Given the description of an element on the screen output the (x, y) to click on. 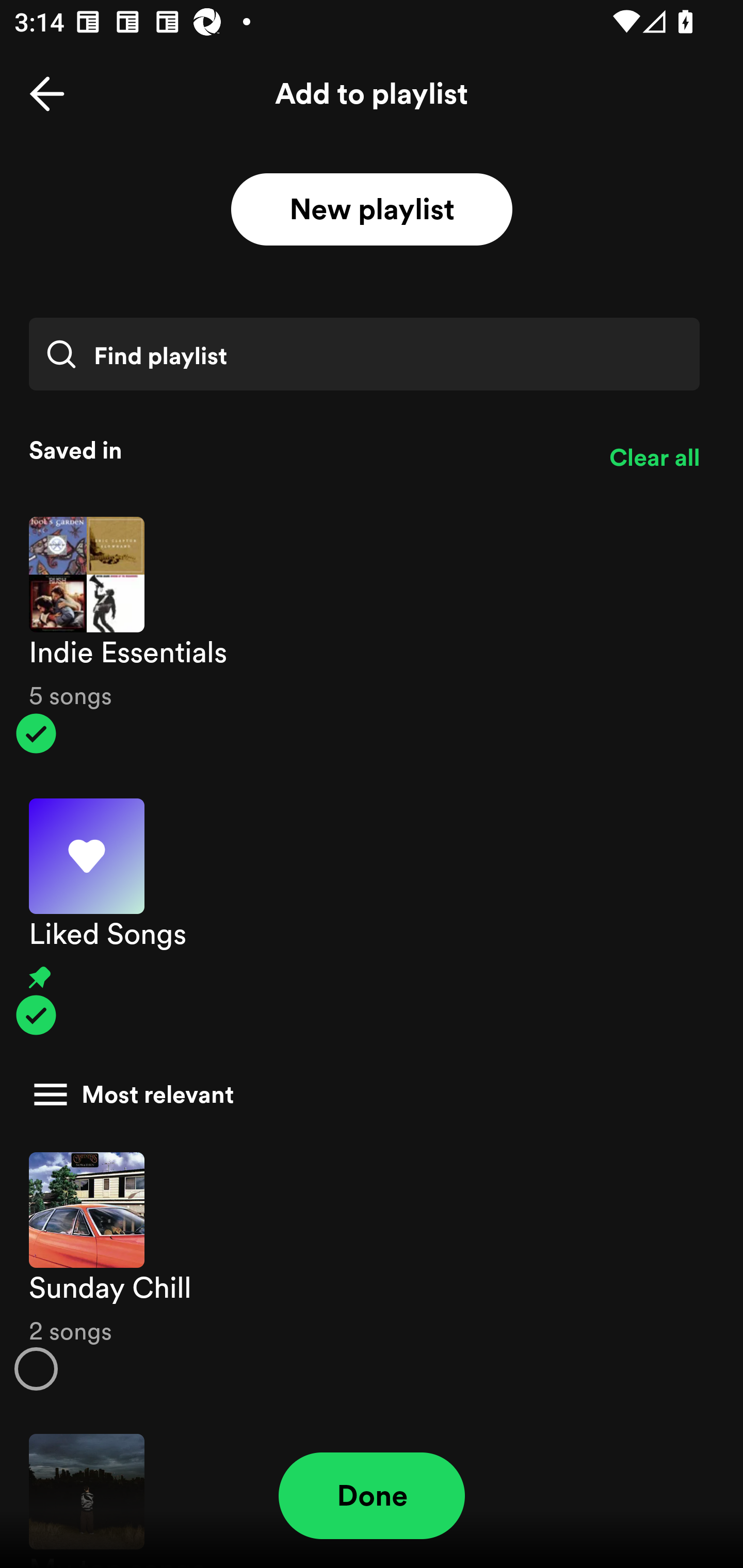
Back (46, 93)
New playlist (371, 210)
Find playlist (363, 354)
Saved in (304, 449)
Clear all (654, 457)
Indie Essentials 5 songs (371, 635)
Liked Songs Pinned (371, 917)
Most relevant (363, 1094)
Sunday Chill 2 songs (371, 1271)
My top songs (371, 1490)
Done (371, 1495)
